Given the description of an element on the screen output the (x, y) to click on. 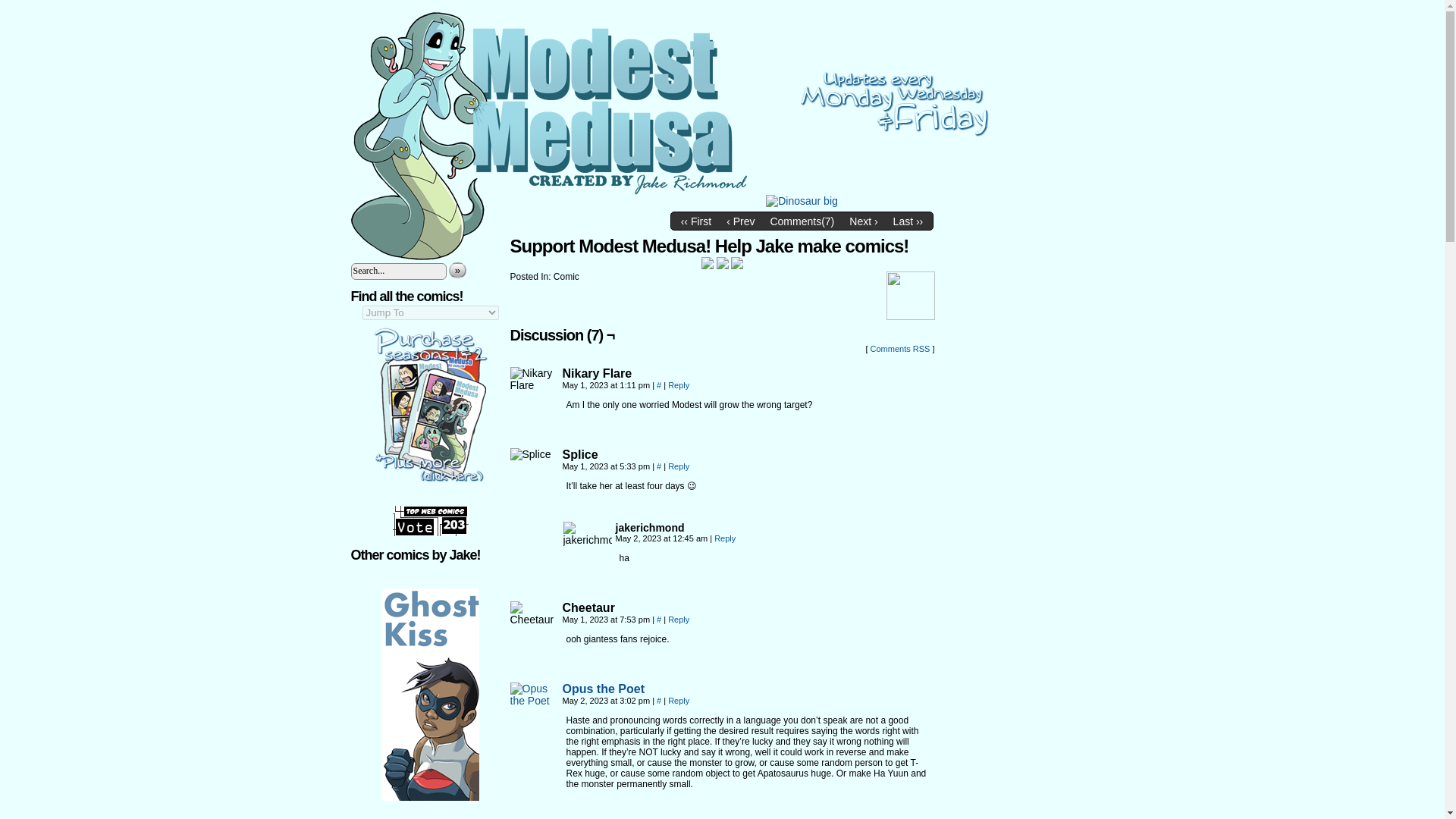
Vote for Modest medusa on TopWebComics! (430, 532)
Opus the Poet (603, 688)
Dinosaur big (801, 200)
Monday, May 1st, 2023, 5:33 pm (607, 465)
Reply (678, 465)
Search... (397, 270)
Reply (678, 700)
Comments RSS (900, 347)
Dinosaur big (802, 221)
Reply (678, 384)
